Given the description of an element on the screen output the (x, y) to click on. 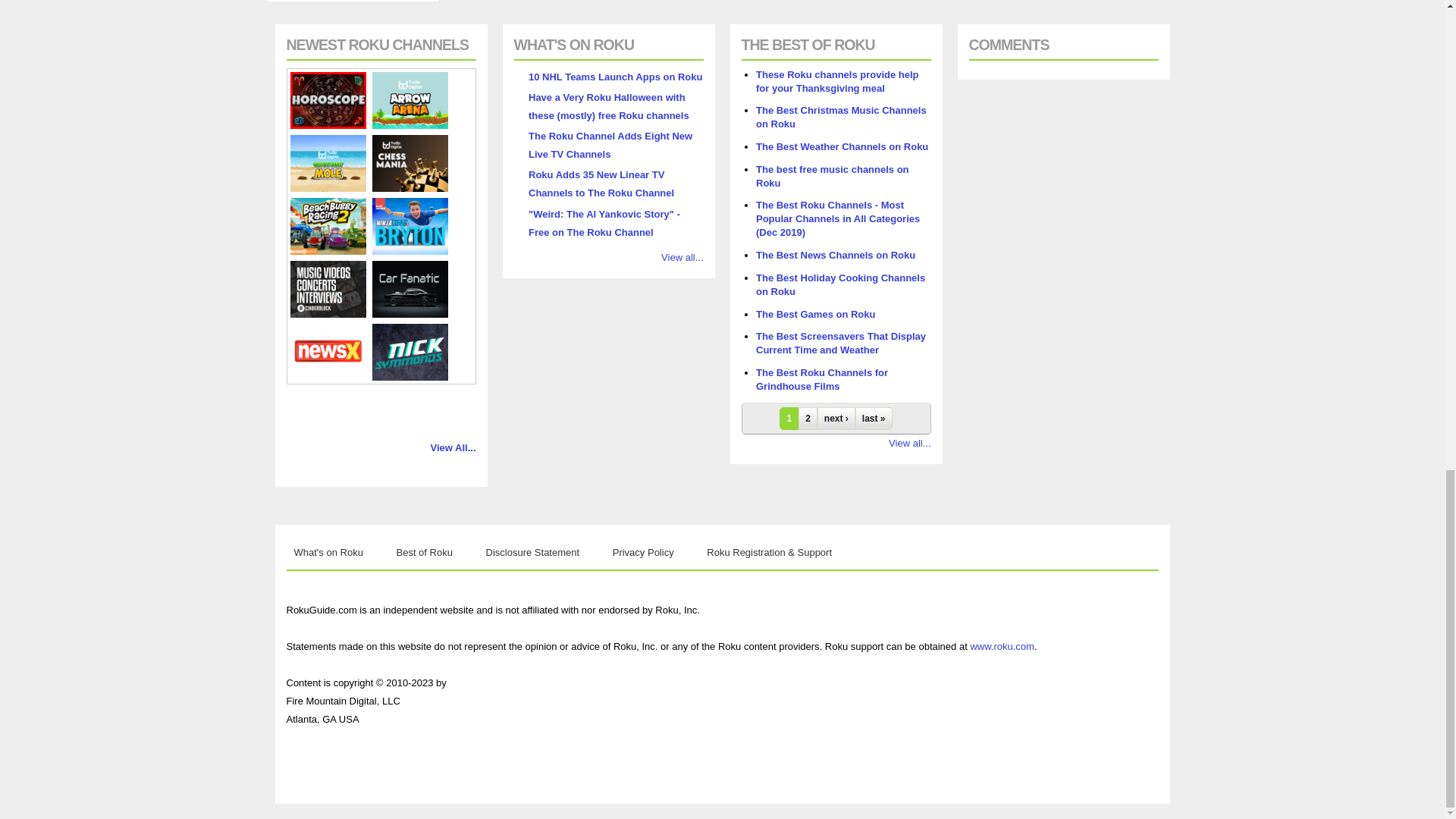
Best of Roku (424, 552)
Privacy Policy (643, 552)
View All... (453, 447)
Go to page 2 (806, 418)
New and Awesome Content on Roku Channels (328, 552)
Go to next page (836, 418)
10 NHL Teams Launch Apps on Roku (614, 76)
Disclosure Statement (533, 552)
The Roku Channel Adds Eight New Live TV Channels (610, 144)
Go to last page (874, 418)
